Given the description of an element on the screen output the (x, y) to click on. 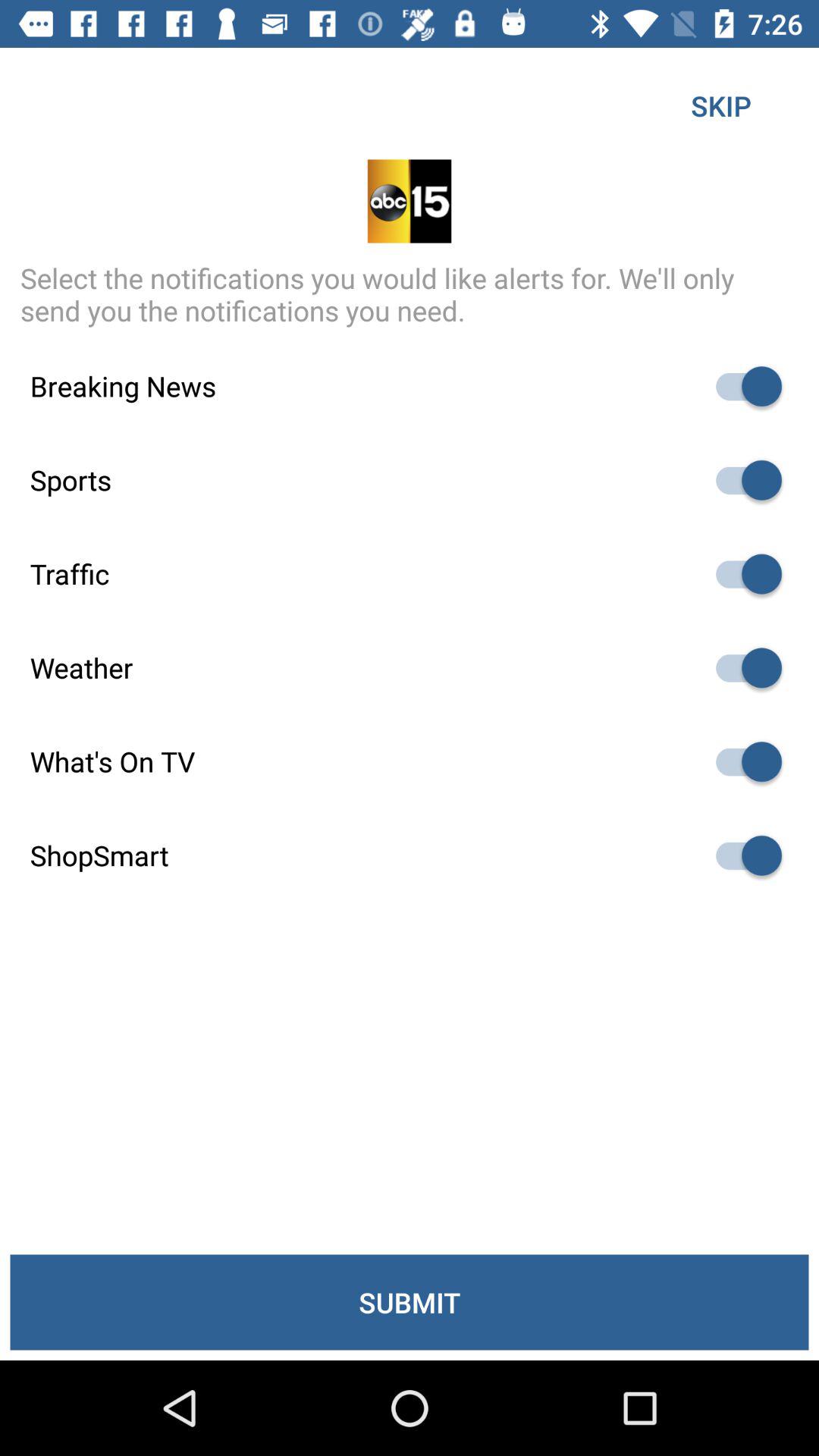
toggle what 's on tv option (741, 761)
